Given the description of an element on the screen output the (x, y) to click on. 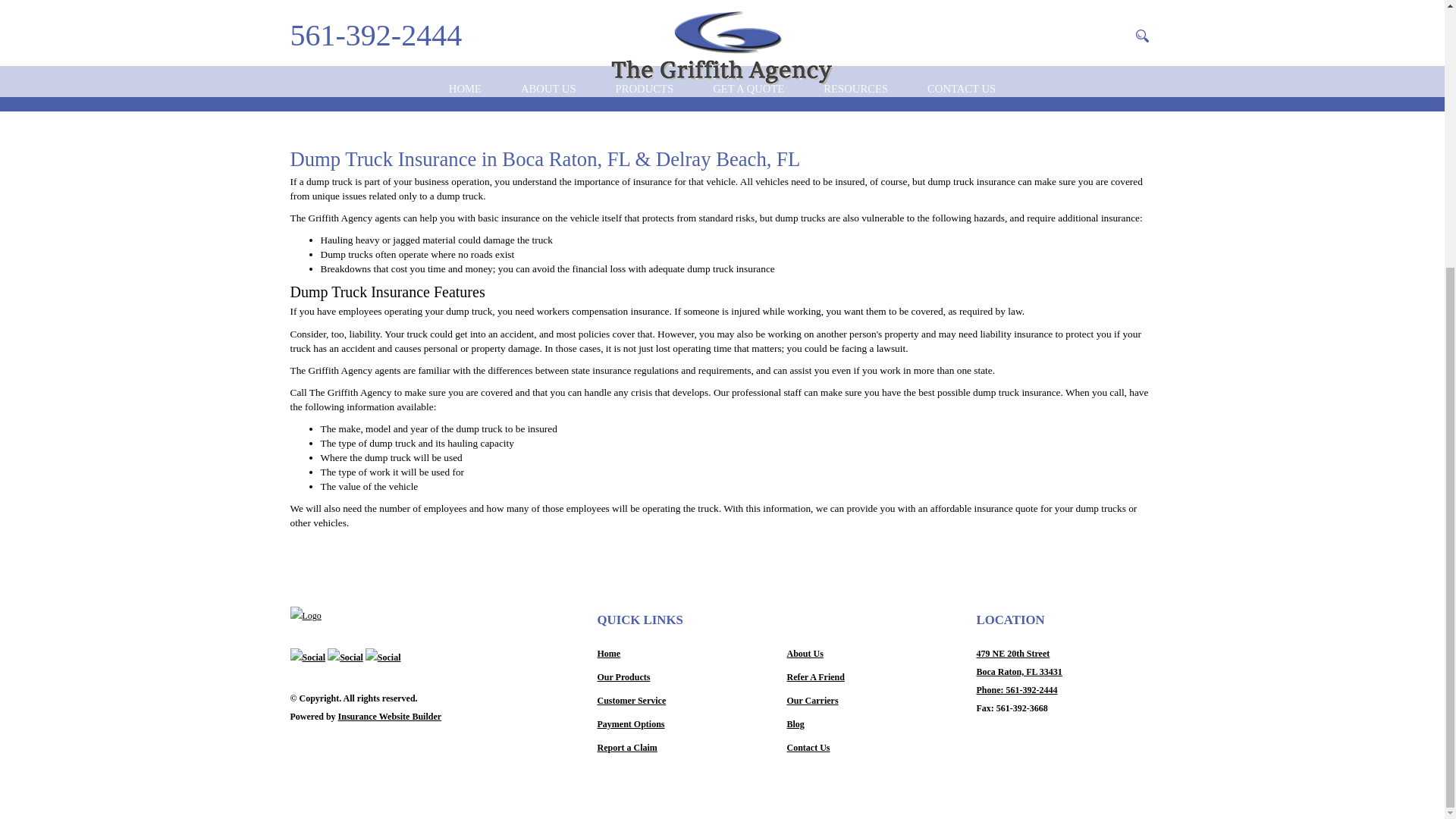
Insurance Website Builder (389, 716)
ABOUT US (548, 88)
HOME (464, 88)
PRODUCTS (644, 88)
